Given the description of an element on the screen output the (x, y) to click on. 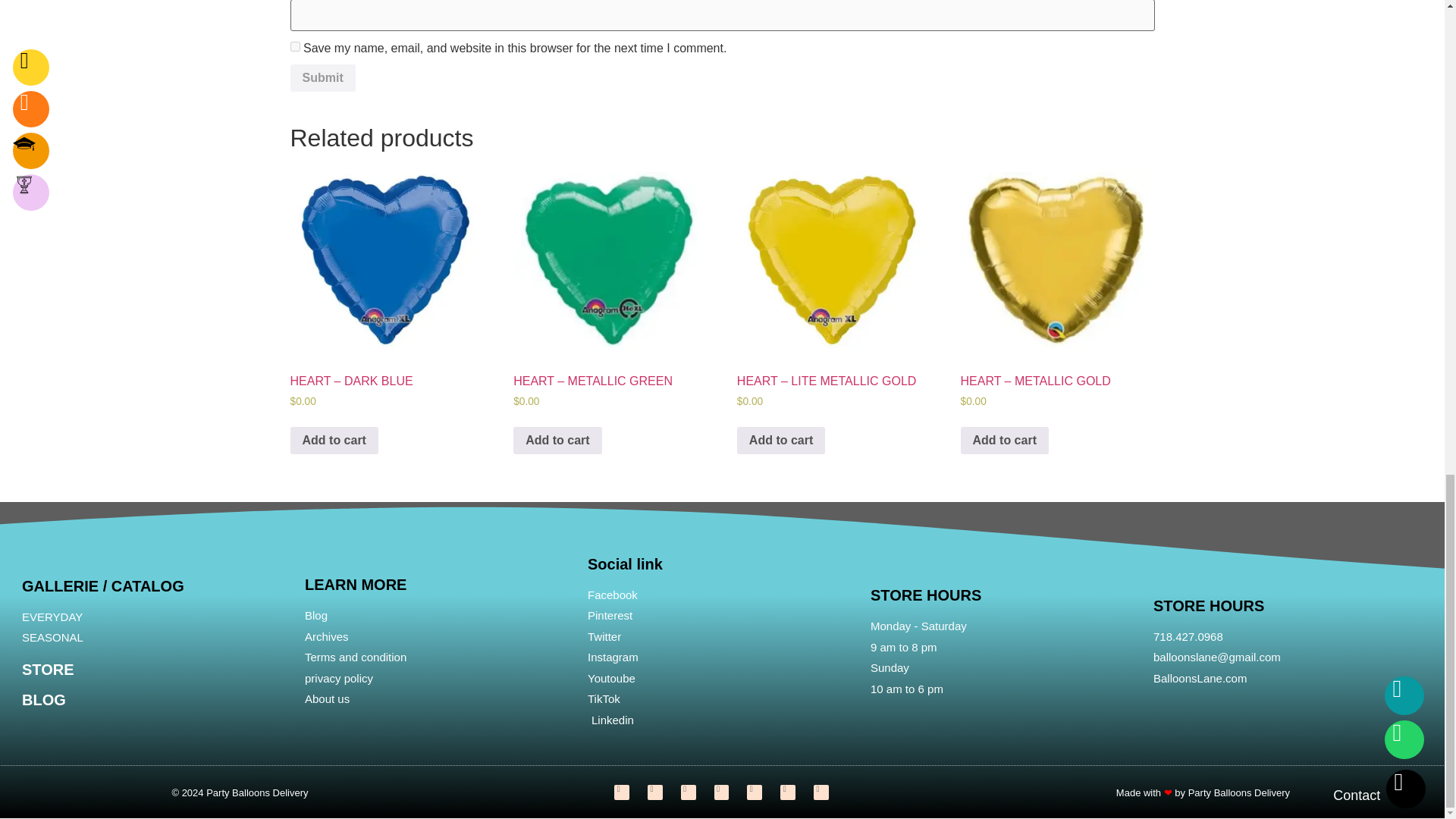
yes (294, 46)
Submit (322, 77)
Blog (438, 615)
SEASONAL (155, 638)
Pinterest (722, 615)
Add to cart (780, 440)
BLOG (43, 699)
Add to cart (1004, 440)
STORE (47, 669)
Add to cart (557, 440)
Terms and condition (438, 657)
Add to cart (333, 440)
About us (438, 699)
Facebook (722, 595)
privacy policy (438, 678)
